Given the description of an element on the screen output the (x, y) to click on. 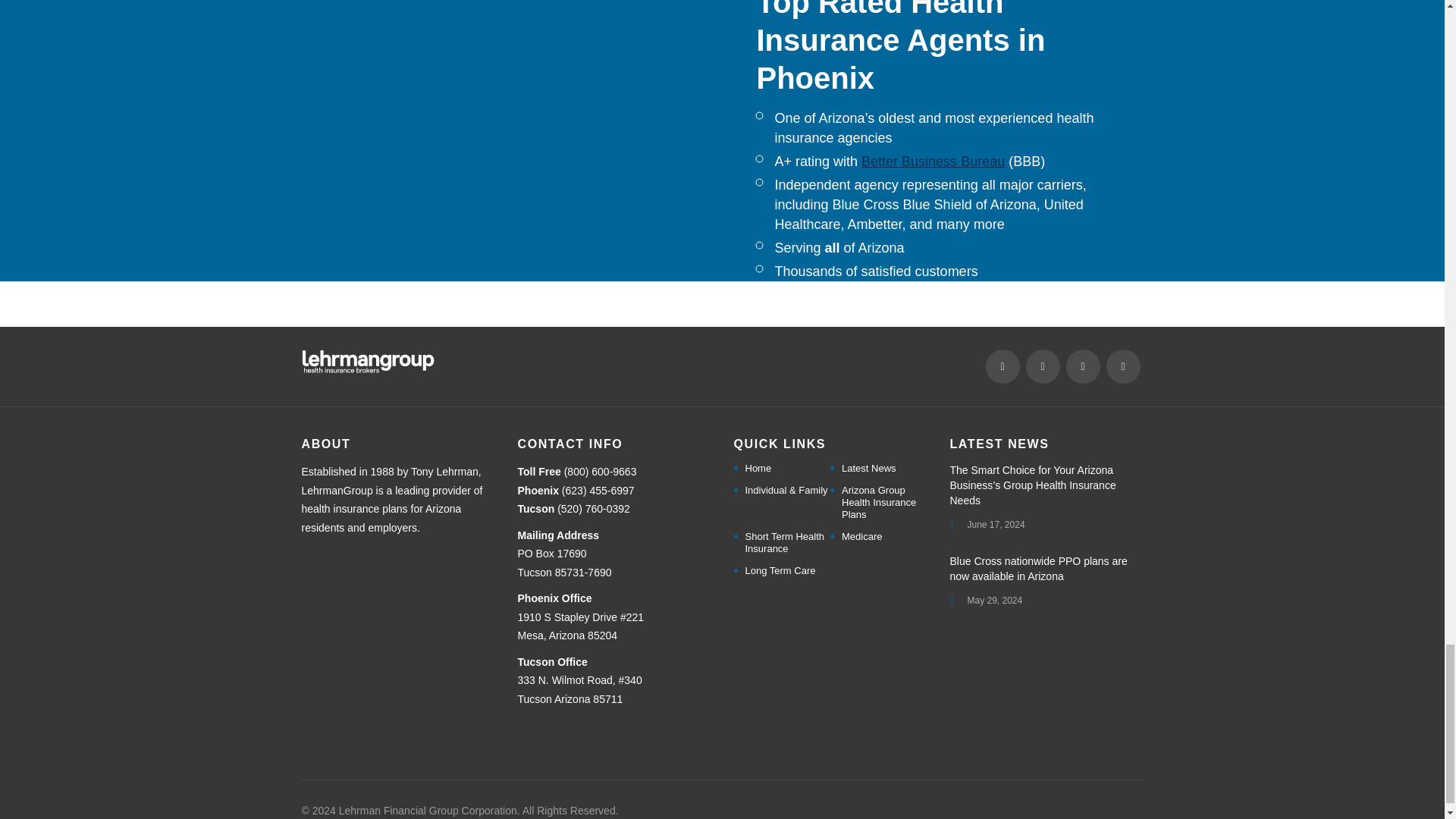
Arizona Group Health Insurance Plans (884, 502)
Home (757, 468)
Short Term Health Insurance (786, 542)
Latest News (868, 468)
Long Term Care (779, 571)
Medicare (861, 536)
Better Business Bureau (932, 160)
